Given the description of an element on the screen output the (x, y) to click on. 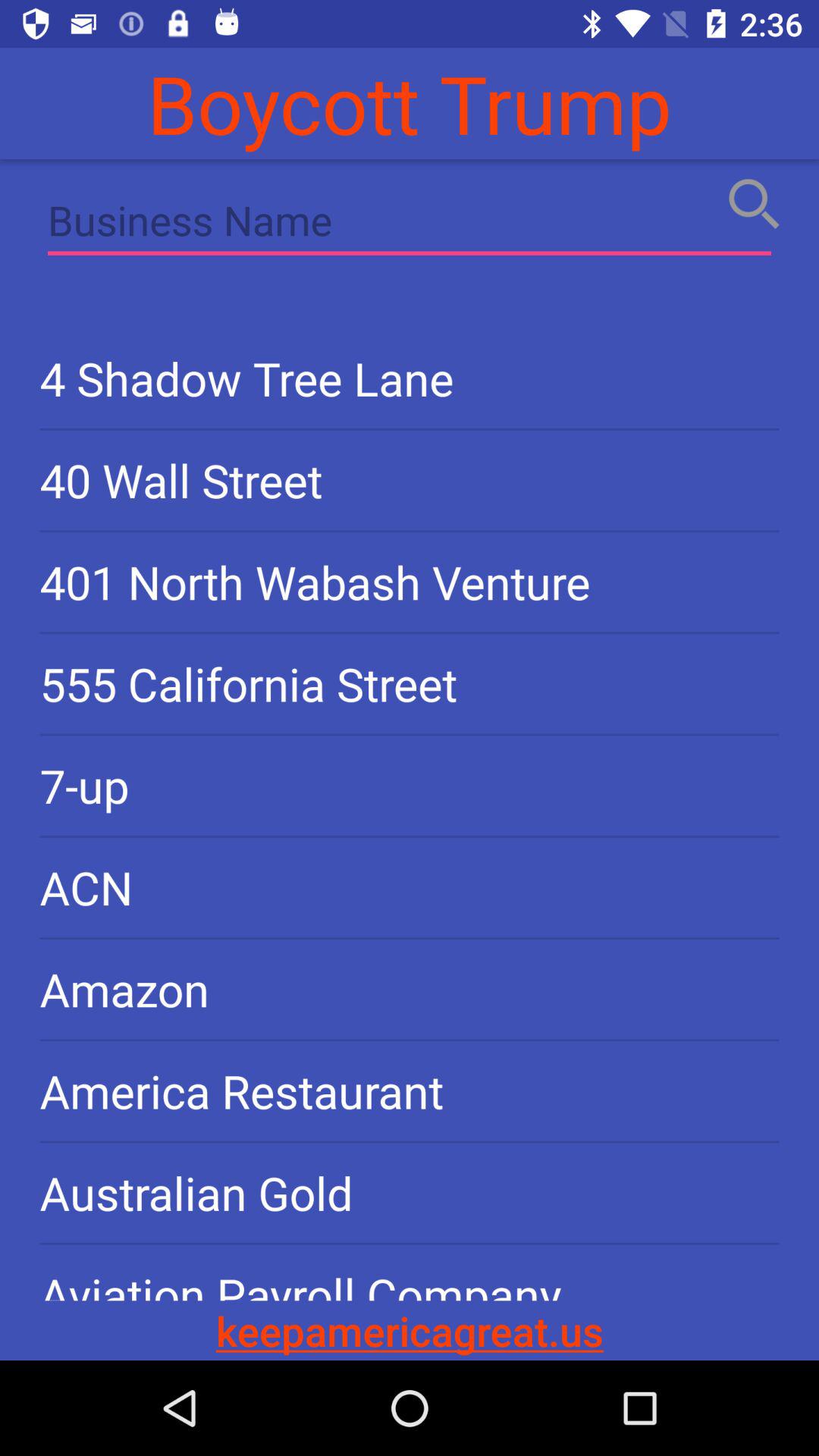
launch icon above the acn icon (409, 785)
